Given the description of an element on the screen output the (x, y) to click on. 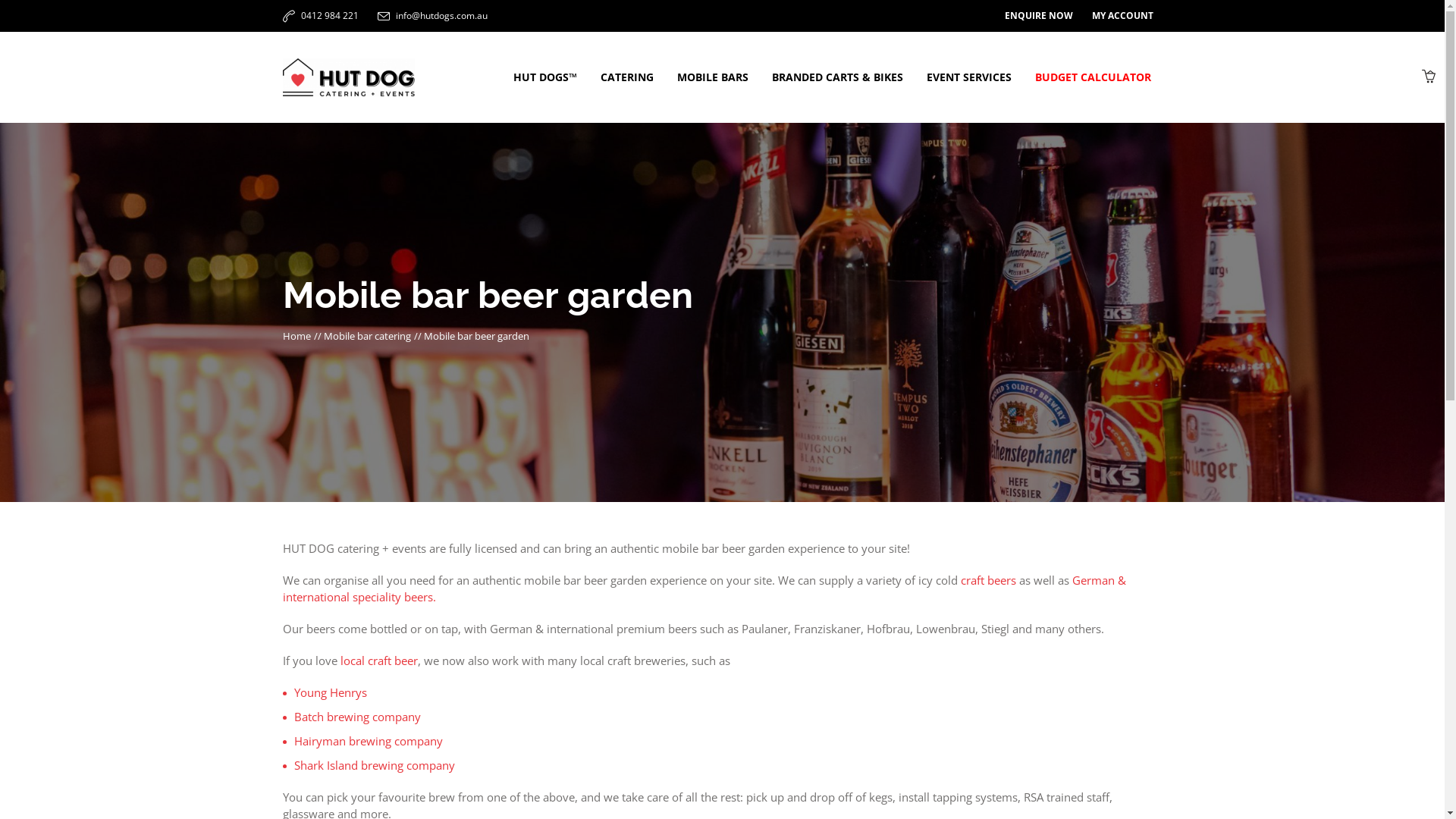
EVENT SERVICES Element type: text (968, 76)
Batch brewing company Element type: text (357, 716)
MY ACCOUNT Element type: text (1122, 15)
CATERING Element type: text (626, 76)
MOBILE BARS Element type: text (712, 76)
German & international speciality beers. Element type: text (703, 588)
Hairyman brewing company Element type: text (368, 740)
info@hutdogs.com.au Element type: text (441, 15)
craft beers Element type: text (987, 579)
Shark Island brewing company Element type: text (374, 764)
local craft beer Element type: text (378, 660)
BUDGET CALCULATOR Element type: text (1092, 76)
Home Element type: text (296, 335)
0412 984 221 Element type: text (328, 15)
Mobile bar catering Element type: text (366, 335)
ENQUIRE NOW Element type: text (1037, 15)
Young Henrys Element type: text (330, 691)
BRANDED CARTS & BIKES Element type: text (836, 76)
